Given the description of an element on the screen output the (x, y) to click on. 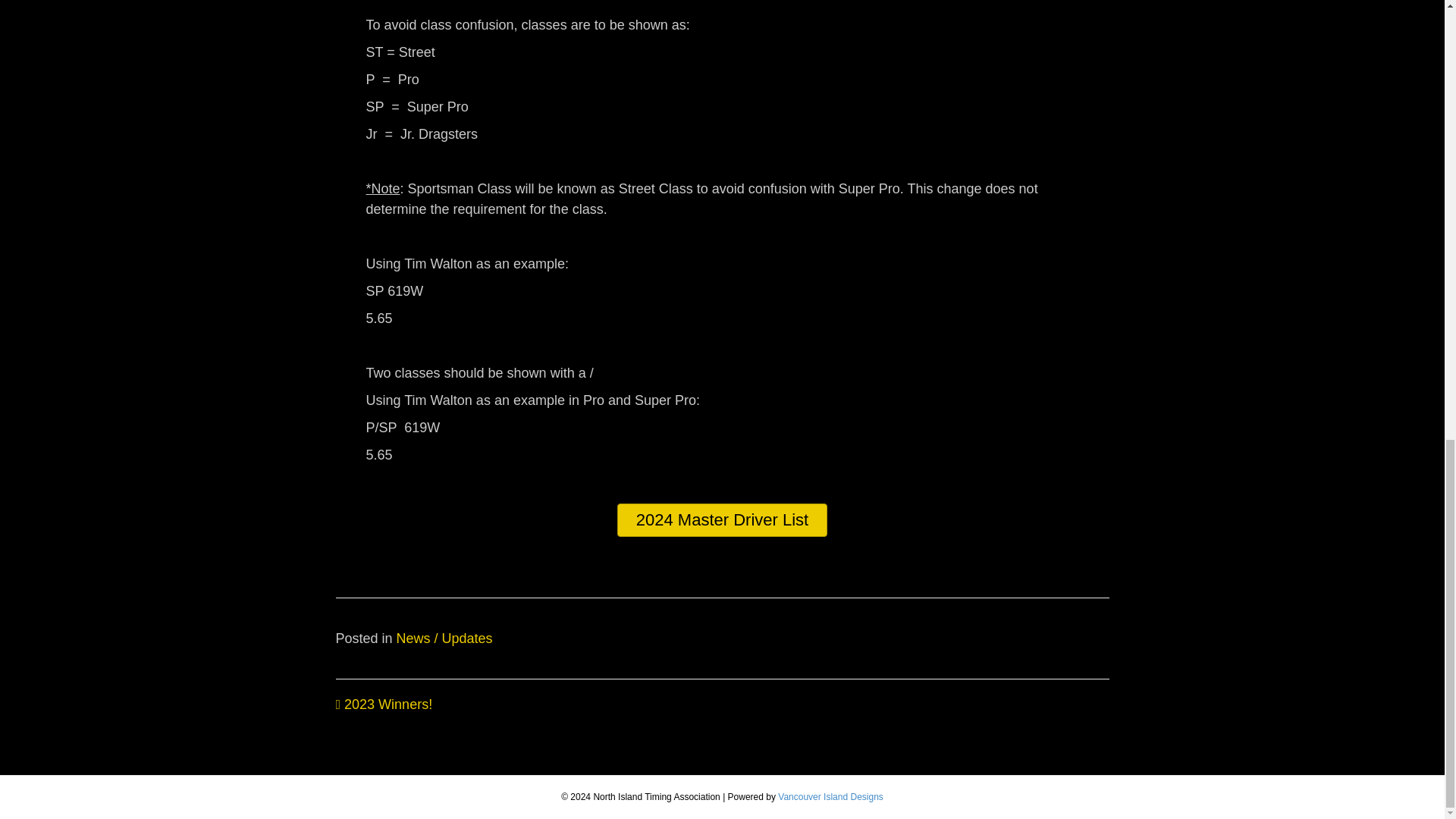
2023 Winners! (383, 704)
Vancouver Island Designs (830, 796)
2024 Master Driver List (722, 520)
